Given the description of an element on the screen output the (x, y) to click on. 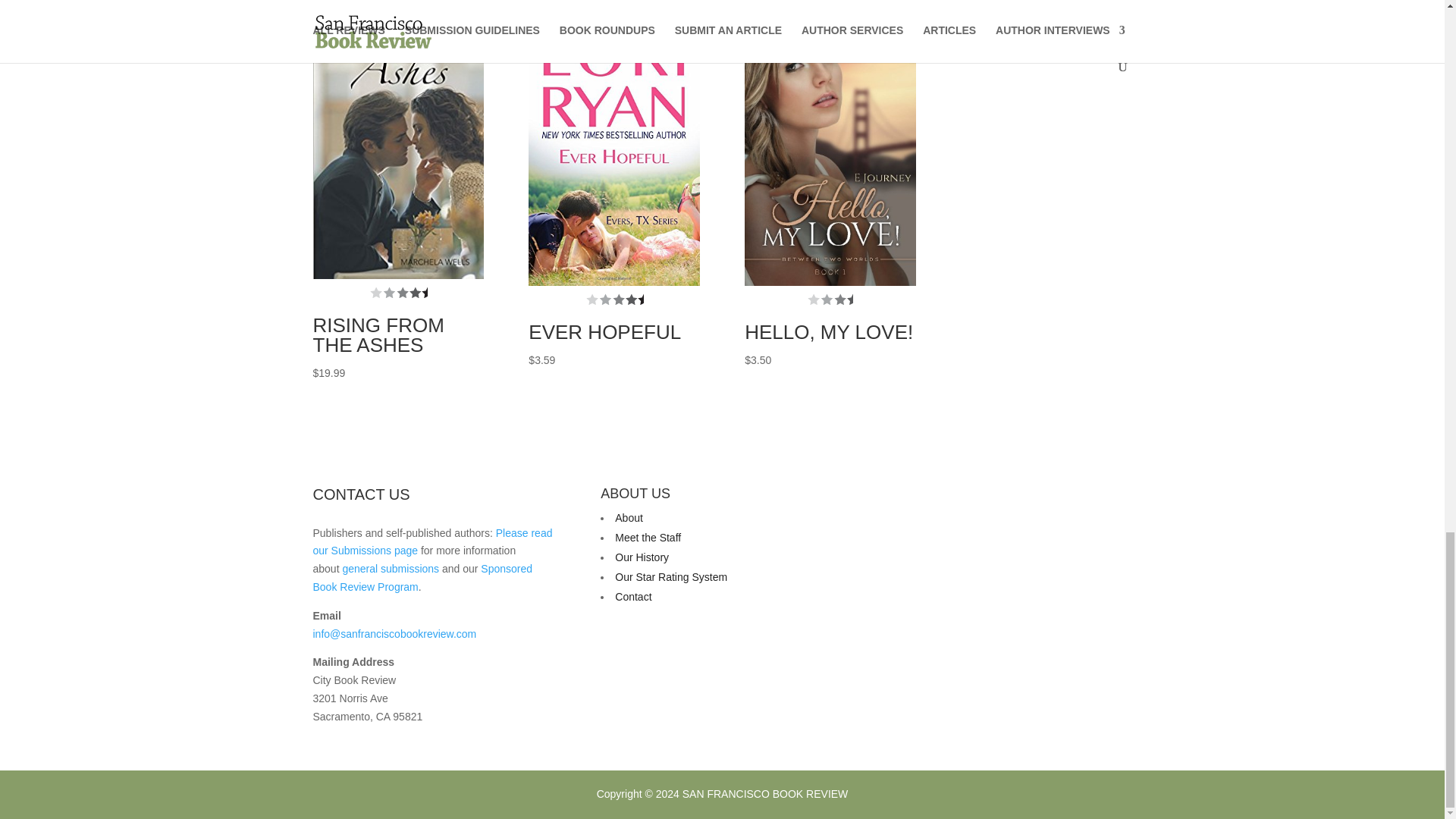
Sponsored Book Review Program (422, 577)
general submissions (390, 568)
Please read our Submissions page (432, 542)
